Given the description of an element on the screen output the (x, y) to click on. 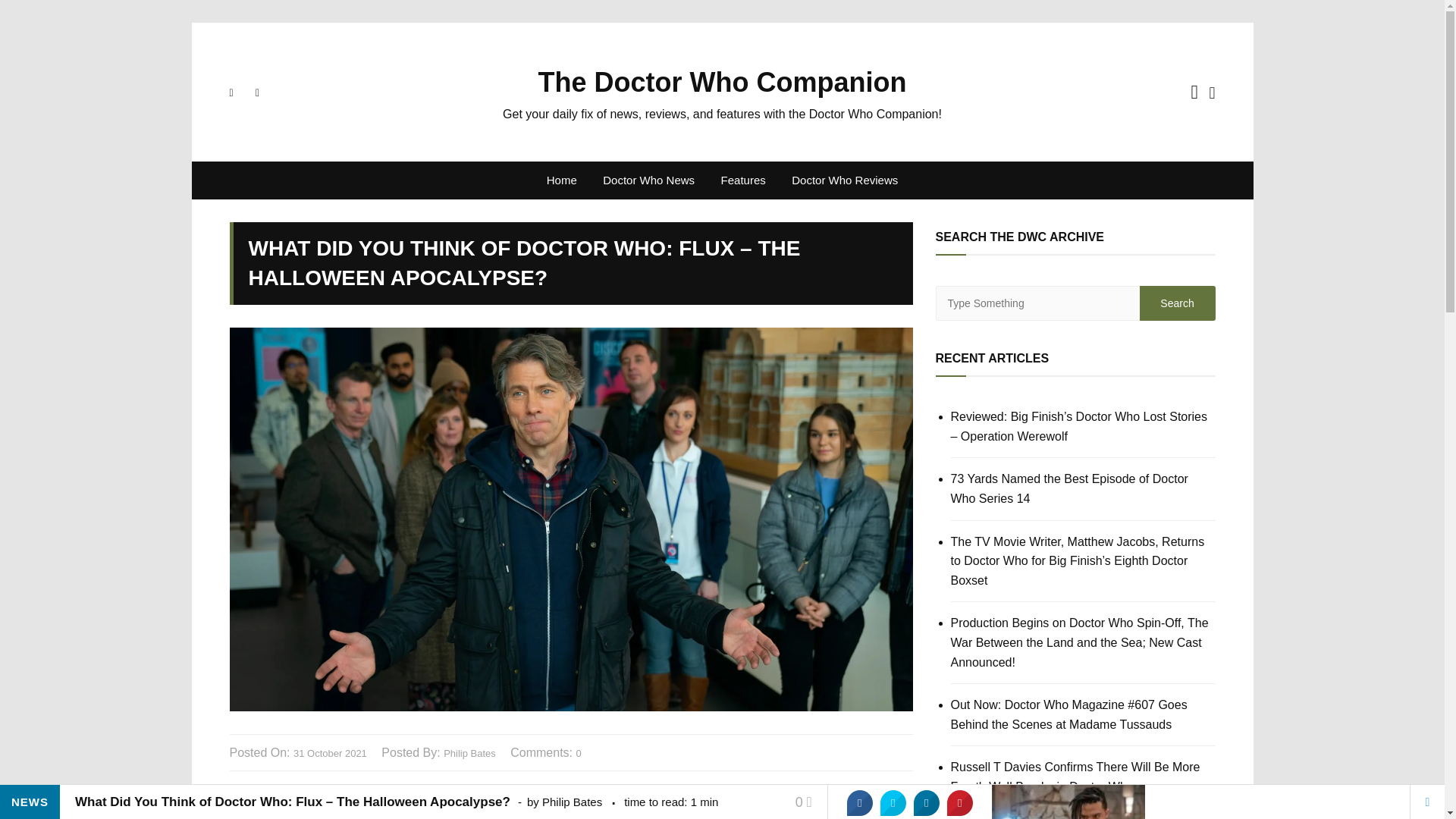
Doctor Who Reviews (844, 180)
Share on Pinterest (959, 802)
The Doctor Who Companion (722, 81)
Features (743, 180)
Share on Twitter (892, 802)
Share on Linkedin (926, 802)
Search (1176, 303)
Doctor Who News (648, 180)
Home (561, 180)
Share on Facebook (859, 802)
